Given the description of an element on the screen output the (x, y) to click on. 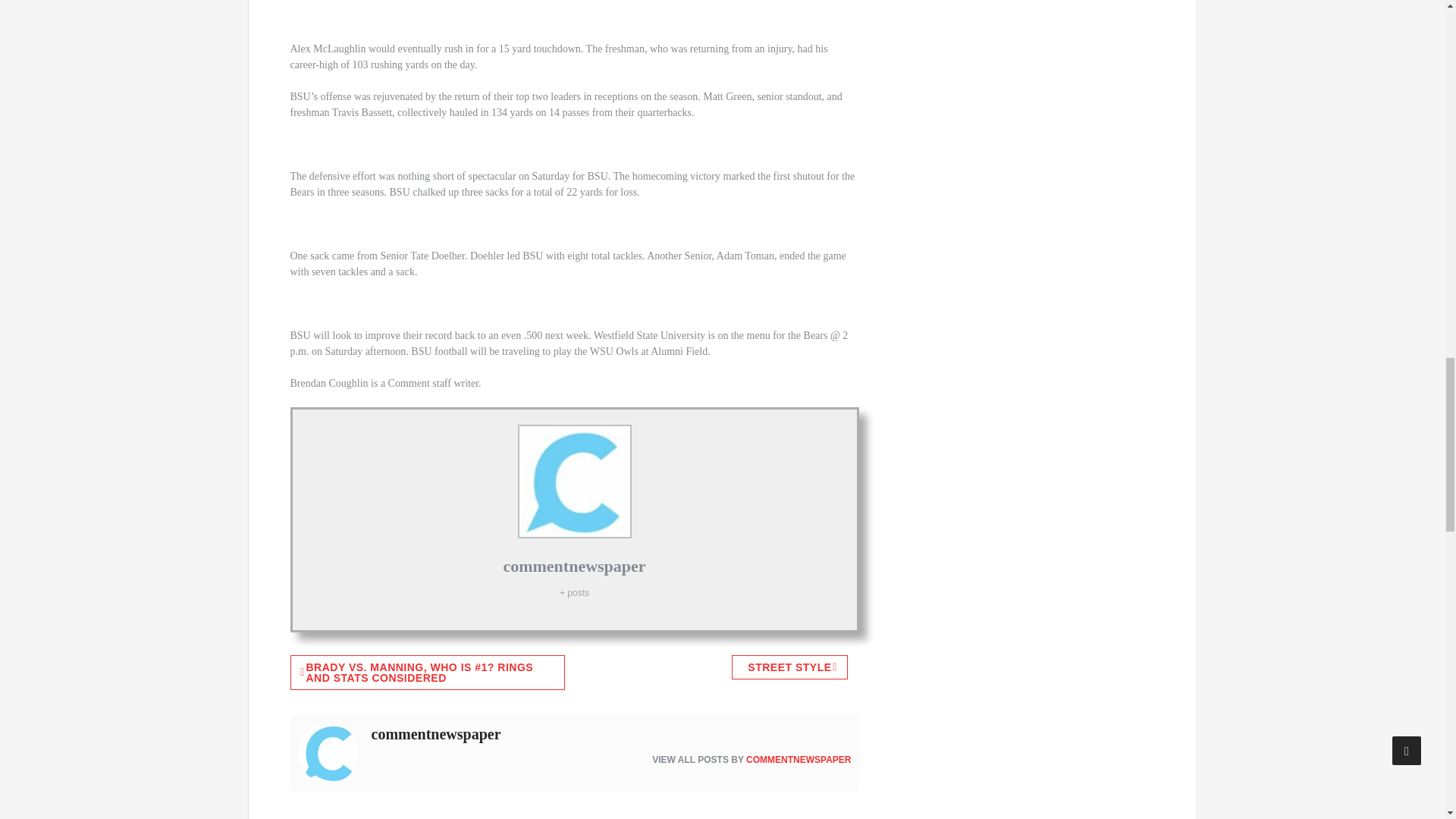
commentnewspaper (573, 565)
STREET STYLE (789, 667)
COMMENTNEWSPAPER (797, 759)
